Given the description of an element on the screen output the (x, y) to click on. 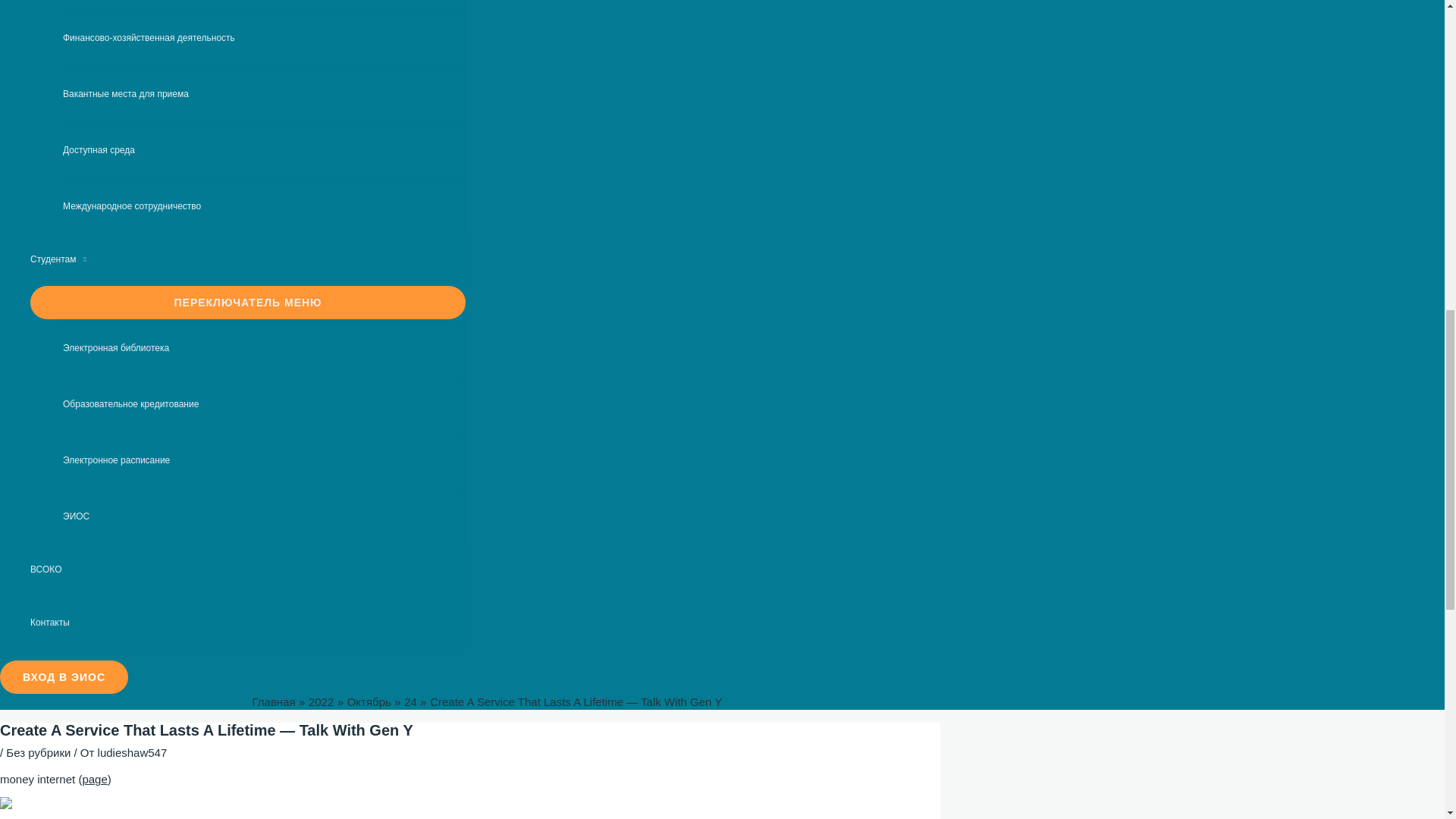
2022 (320, 701)
24 (410, 701)
